Given the description of an element on the screen output the (x, y) to click on. 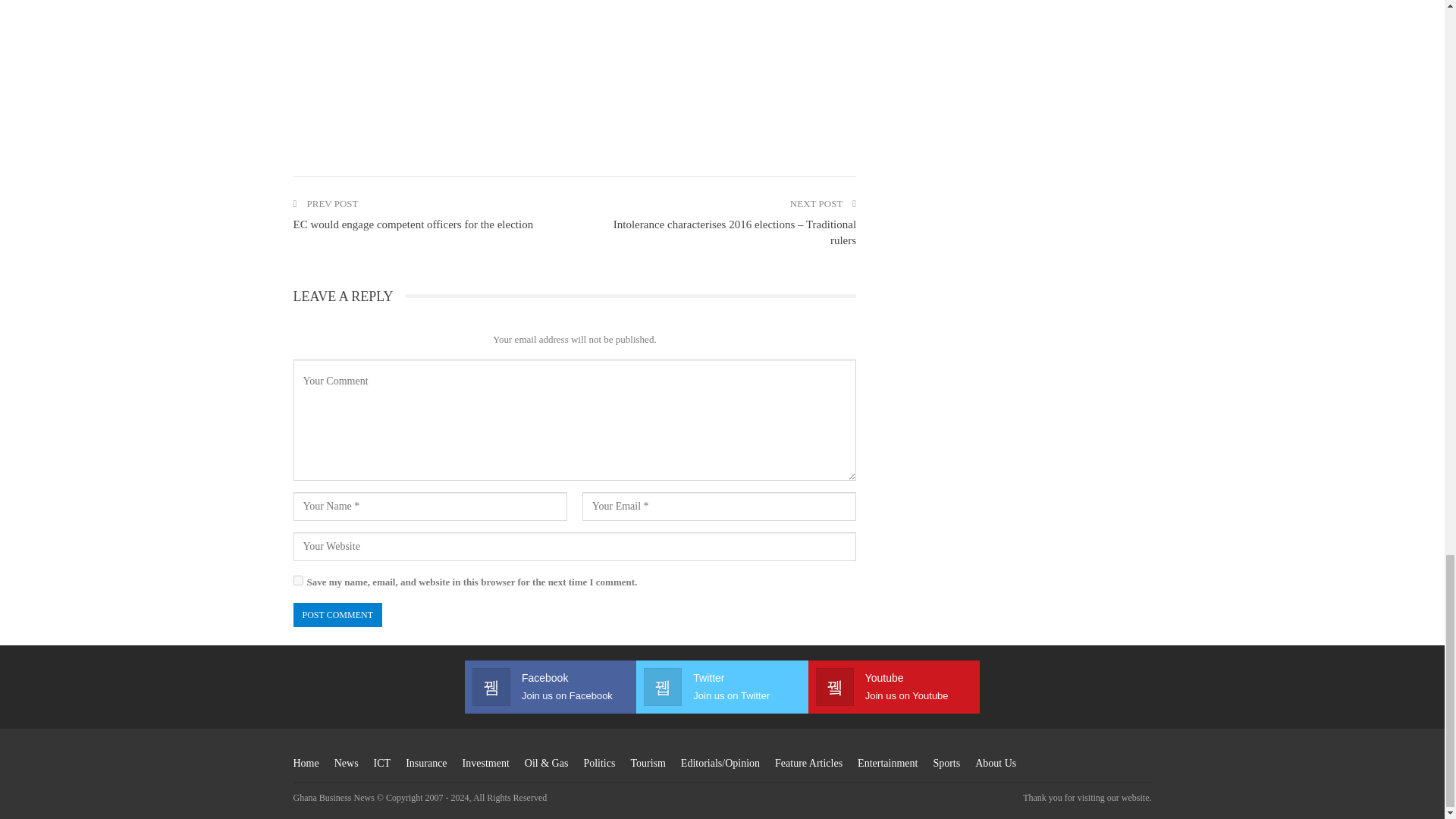
EC would engage competent officers for the election (412, 224)
Post Comment (336, 615)
yes (297, 580)
Post Comment (336, 615)
